Given the description of an element on the screen output the (x, y) to click on. 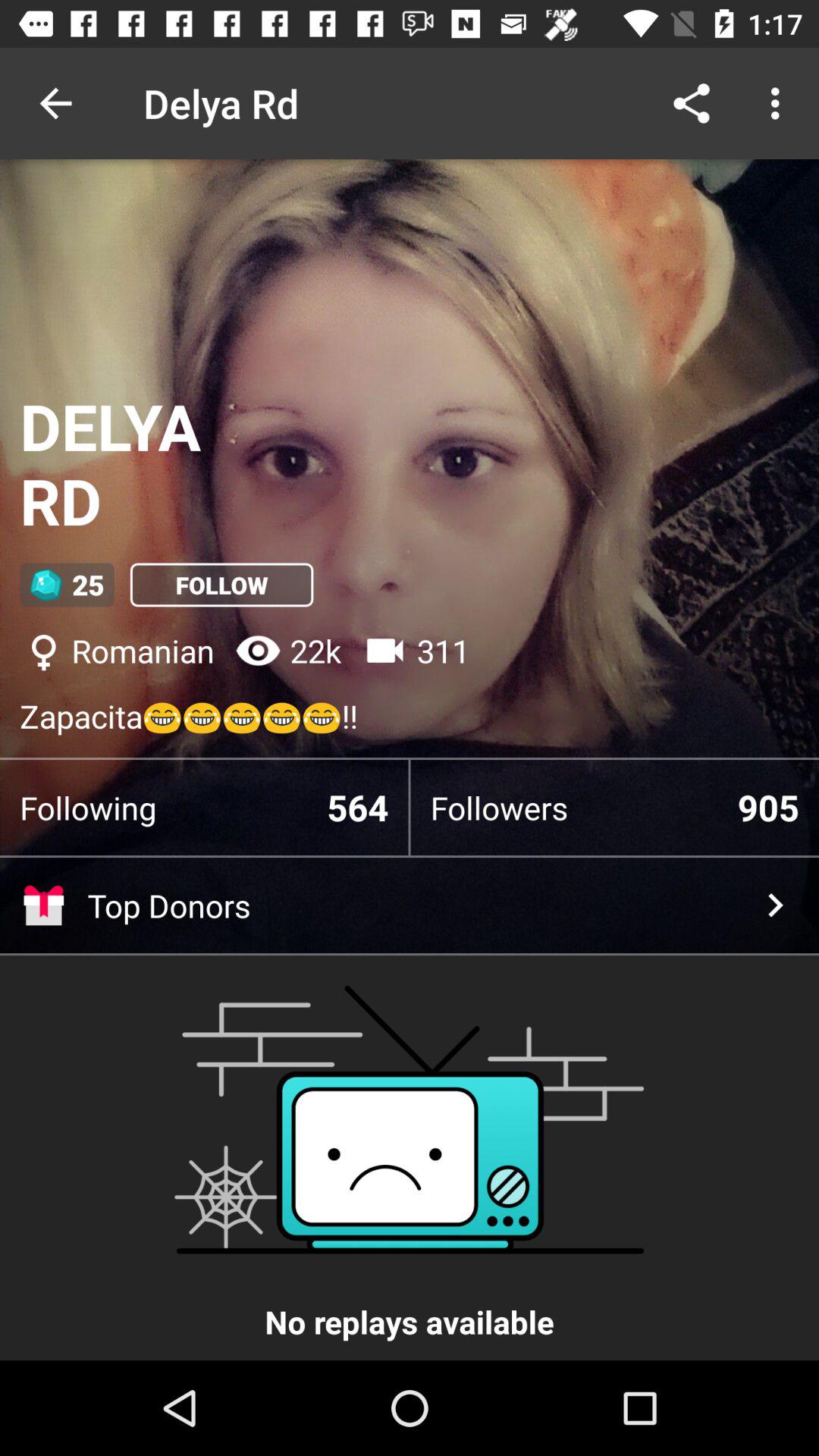
press 25 (66, 584)
